Given the description of an element on the screen output the (x, y) to click on. 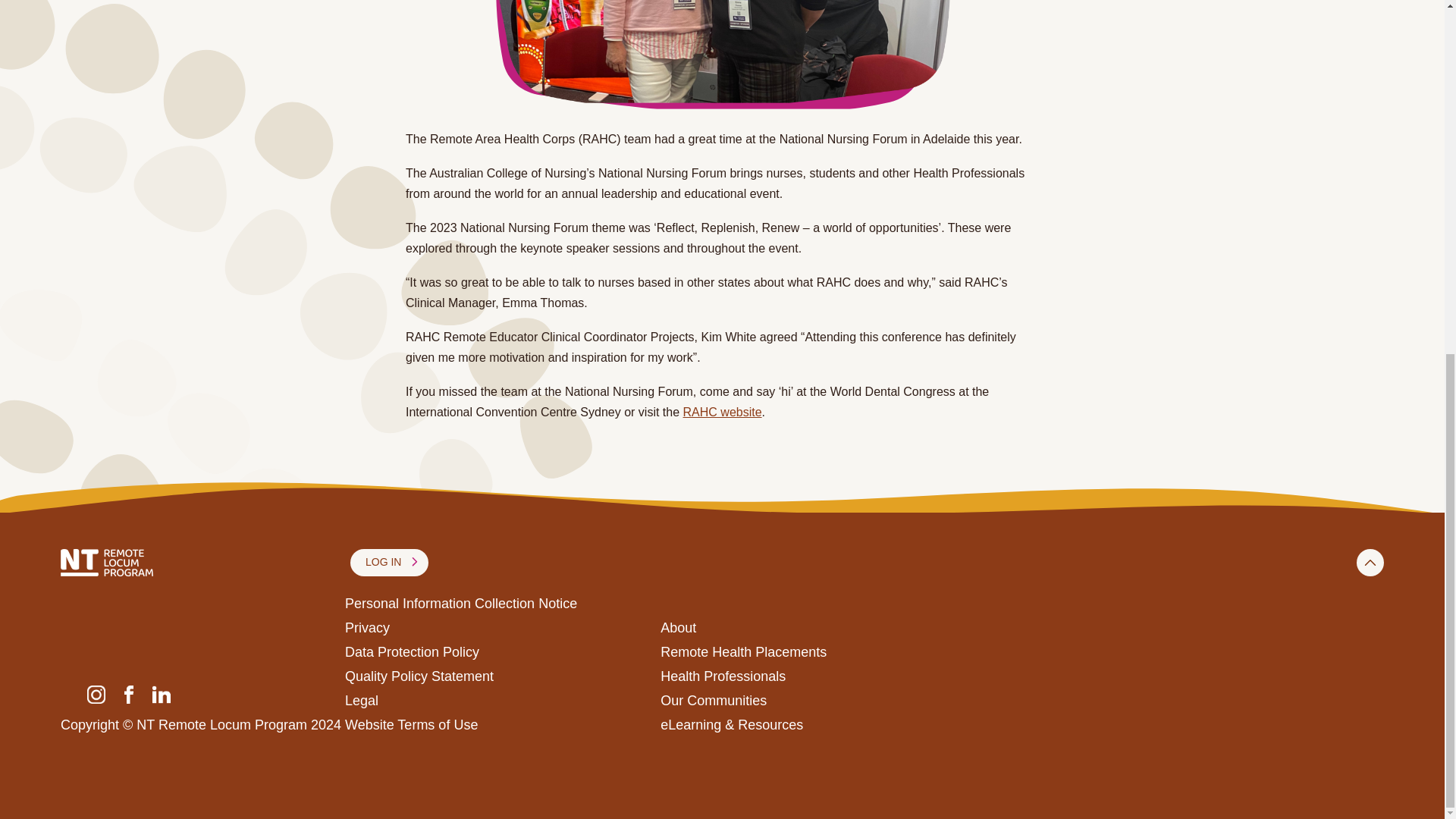
RAHC website (721, 411)
Privacy (367, 627)
Instagram (95, 693)
Personal Information Collection Notice (460, 603)
Data Protection Policy (412, 652)
Quality Policy Statement (419, 676)
LOG IN (389, 562)
Facebook (128, 693)
LinkedIn (161, 693)
